Given the description of an element on the screen output the (x, y) to click on. 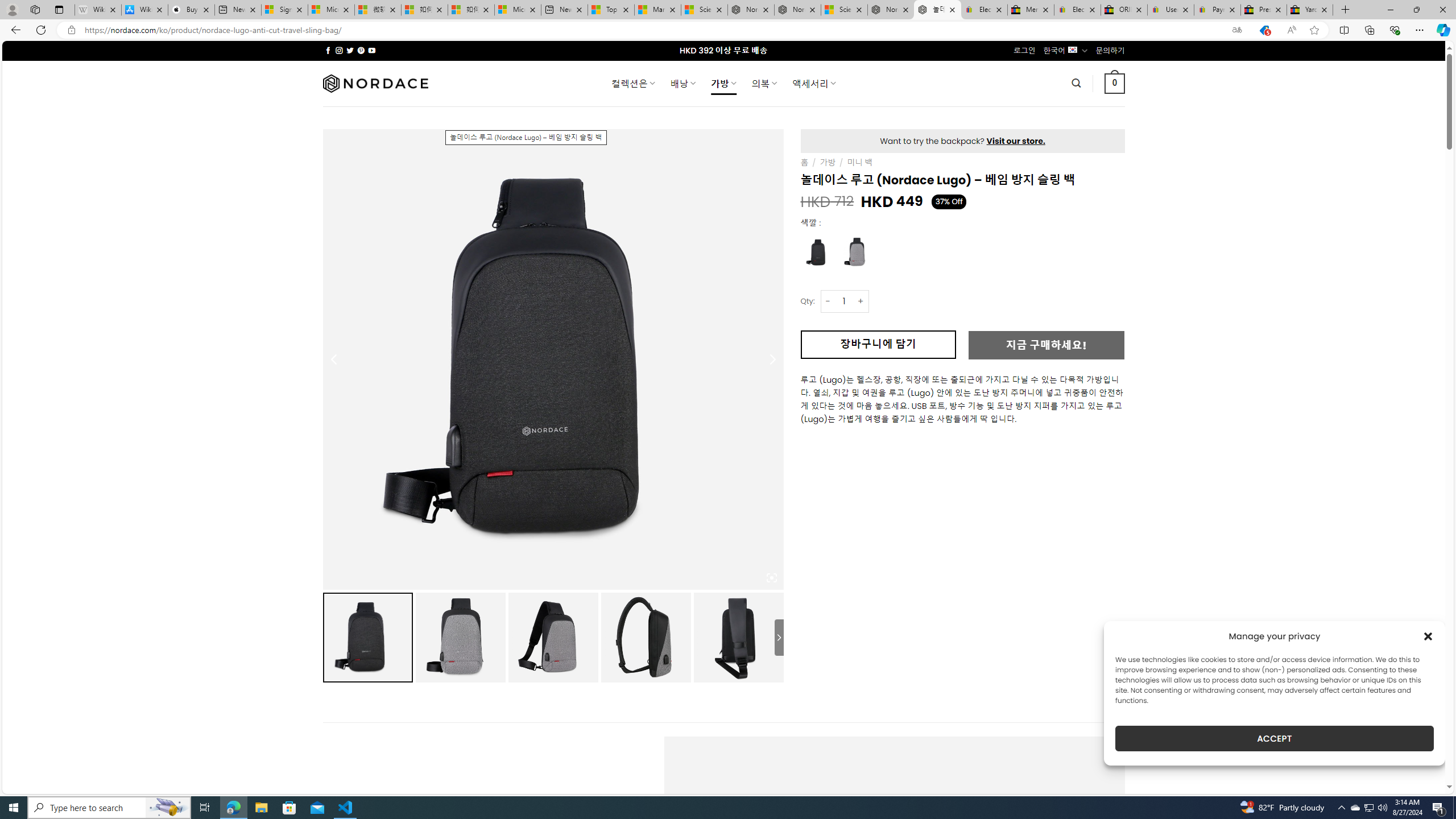
 0  (1115, 83)
Follow on Facebook (327, 50)
Follow on Instagram (338, 50)
